Given the description of an element on the screen output the (x, y) to click on. 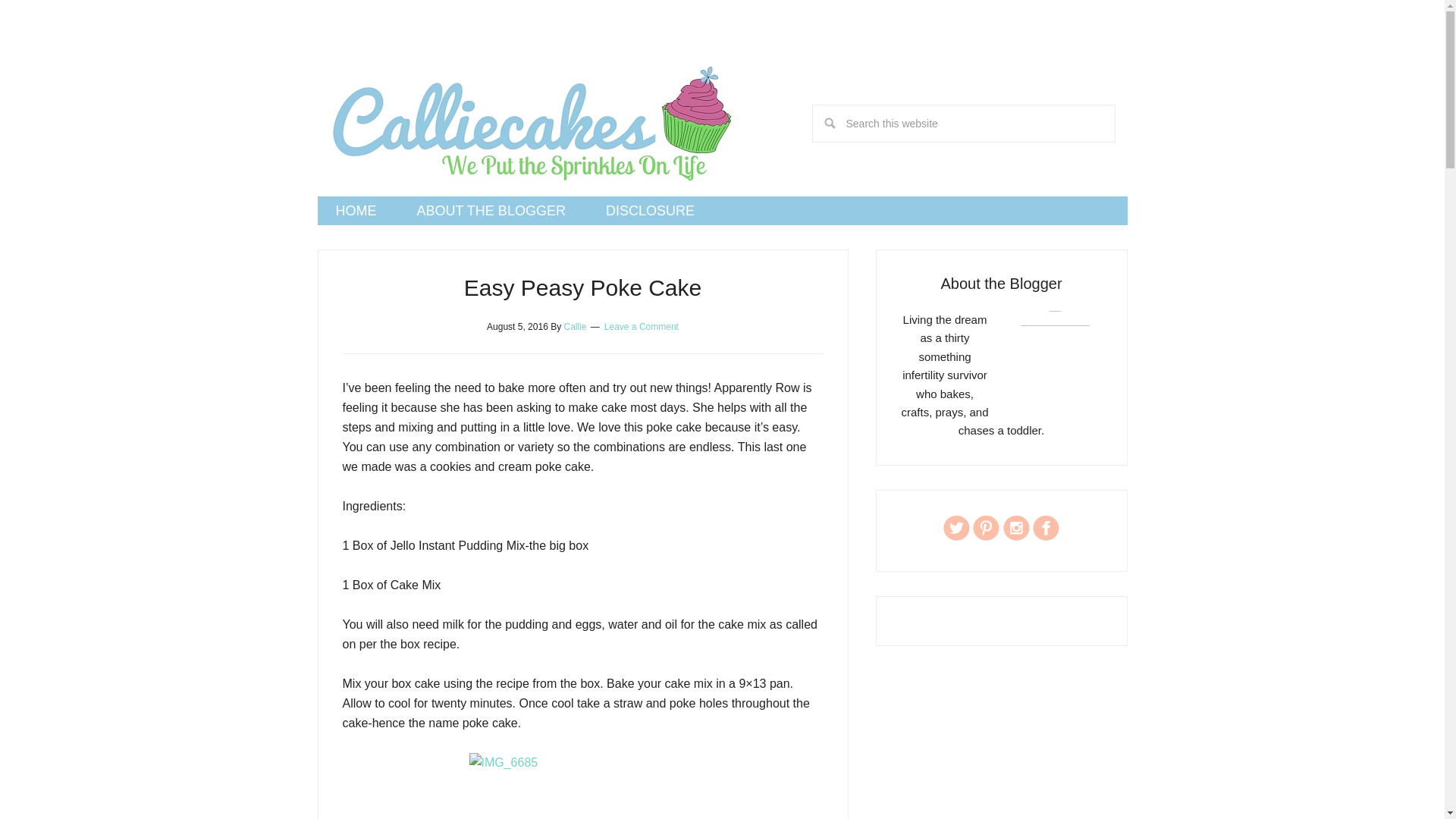
DISCLOSURE (650, 210)
ABOUT THE BLOGGER (490, 210)
HOME (355, 210)
Easy Peasy Poke Cake (582, 287)
Leave a Comment (641, 326)
Callie (574, 326)
